Given the description of an element on the screen output the (x, y) to click on. 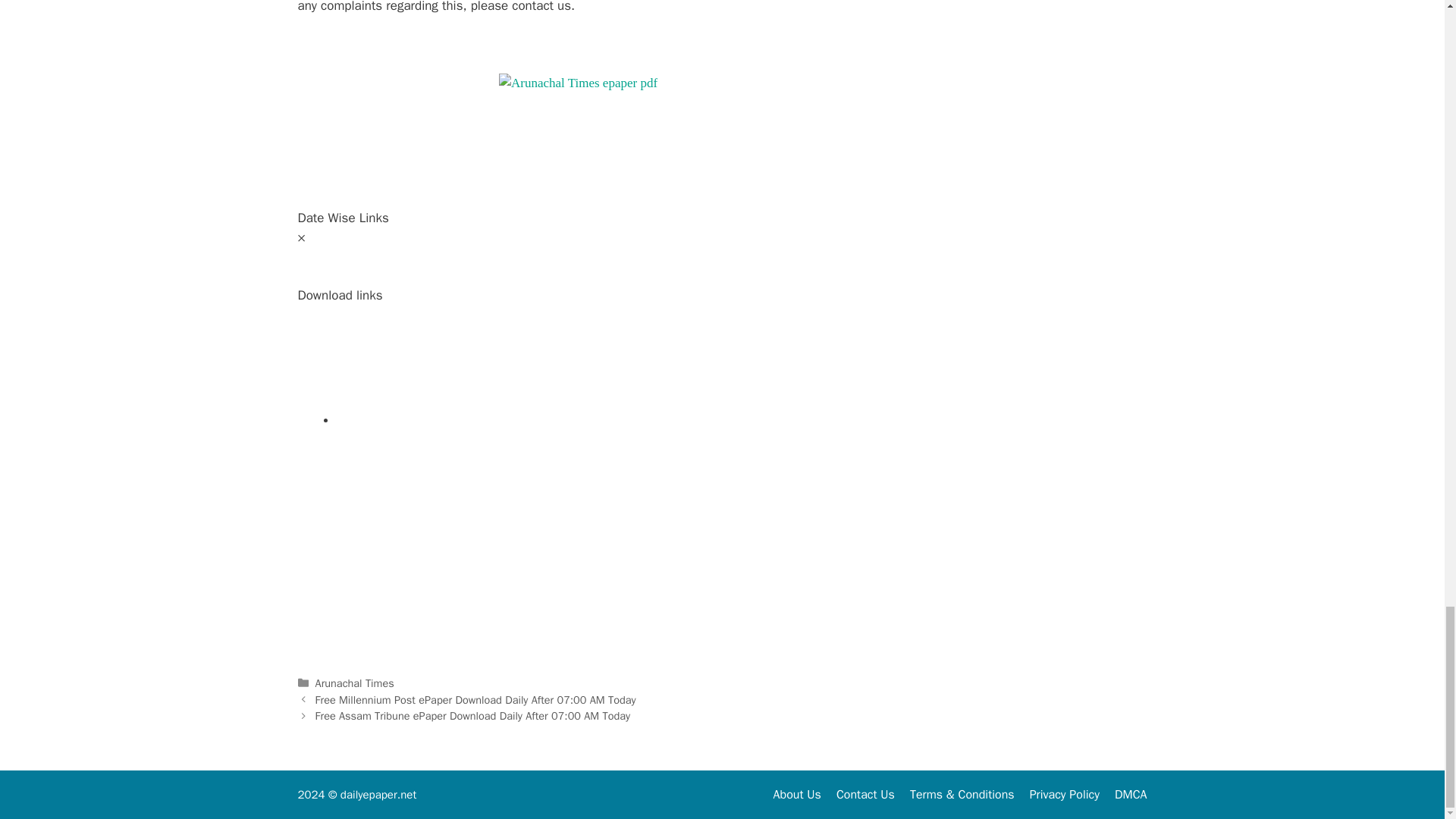
Contact Us (865, 794)
Privacy Policy (1064, 794)
Arunachal Times (354, 683)
DMCA (1131, 794)
Arunachal Times epaper pdf download (578, 82)
About Us (797, 794)
